Given the description of an element on the screen output the (x, y) to click on. 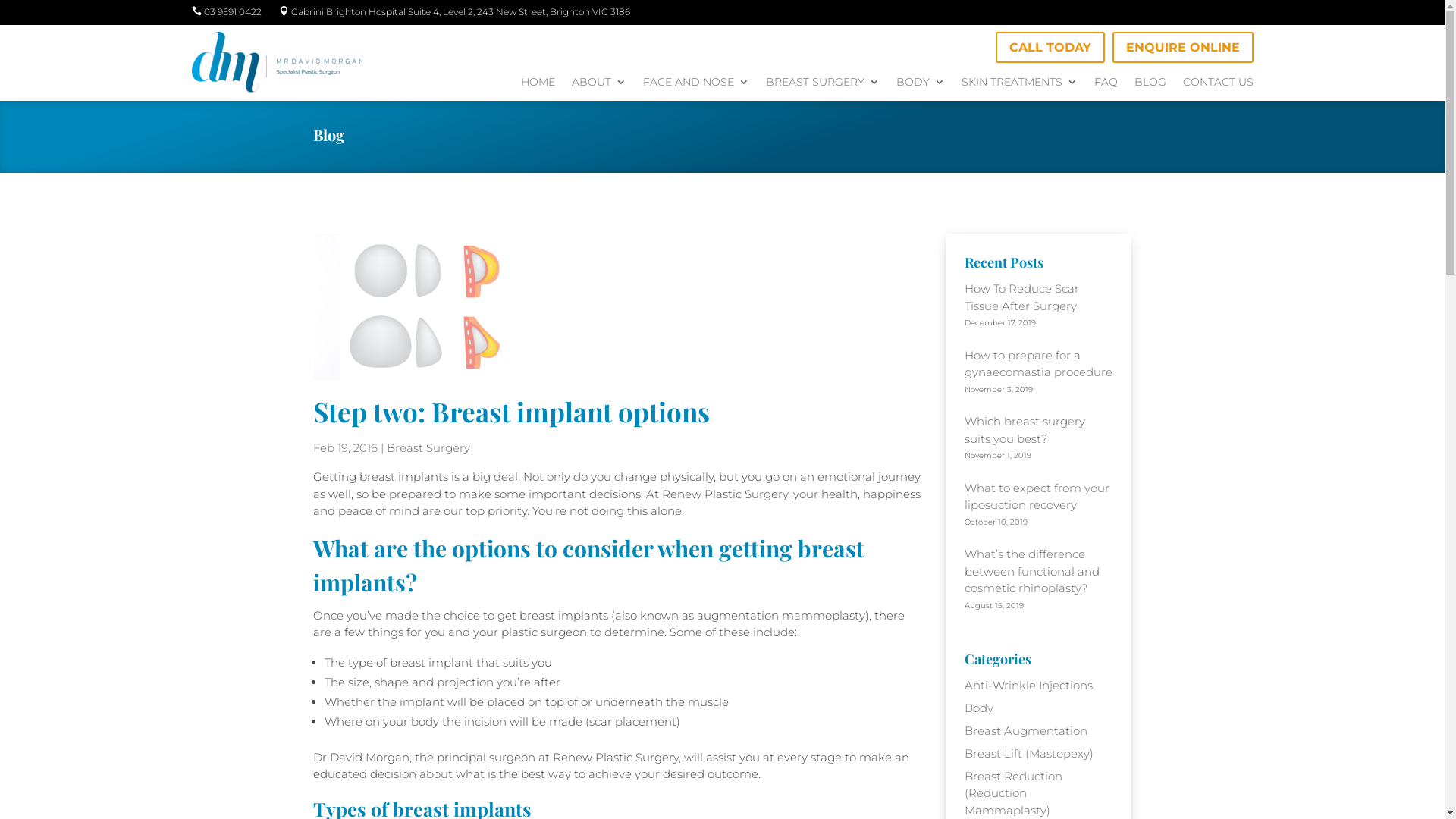
Breast Lift (Mastopexy) Element type: text (1028, 753)
BREAST SURGERY Element type: text (822, 84)
breast-implant-options Element type: hover (524, 306)
How to prepare for a gynaecomastia procedure Element type: text (1038, 363)
BODY Element type: text (920, 84)
HOME Element type: text (537, 84)
CONTACT US Element type: text (1218, 84)
How To Reduce Scar Tissue After Surgery Element type: text (1021, 297)
Breast Surgery Element type: text (428, 447)
FACE AND NOSE Element type: text (696, 84)
FAQ Element type: text (1105, 84)
ENQUIRE ONLINE Element type: text (1181, 46)
BLOG Element type: text (1150, 84)
What to expect from your liposuction recovery Element type: text (1036, 496)
Anti-Wrinkle Injections Element type: text (1028, 684)
Breast Augmentation Element type: text (1025, 730)
Body Element type: text (978, 707)
ABOUT Element type: text (598, 84)
CALL TODAY Element type: text (1049, 46)
SKIN TREATMENTS Element type: text (1019, 84)
Breast Reduction (Reduction Mammaplasty) Element type: text (1013, 792)
Which breast surgery suits you best? Element type: text (1024, 429)
